Given the description of an element on the screen output the (x, y) to click on. 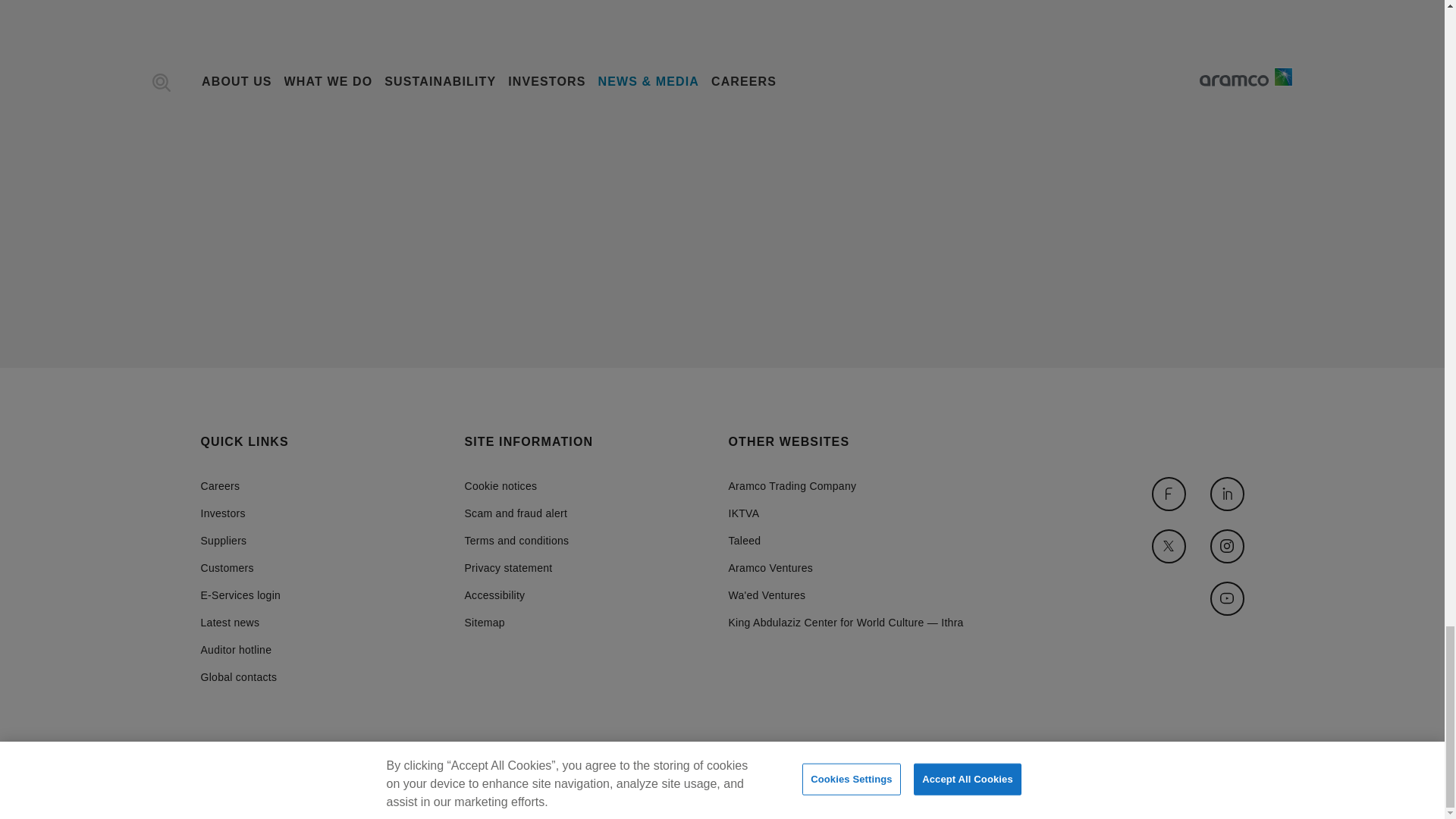
Cookie notices (516, 486)
Scam and fraud alert (516, 513)
Auditor hotline (240, 649)
Latest news (240, 622)
Terms and conditions (516, 540)
Investors (240, 513)
E-Services login (240, 594)
Aramco Trading Company (845, 486)
Customers (240, 567)
Sitemap (516, 622)
